Given the description of an element on the screen output the (x, y) to click on. 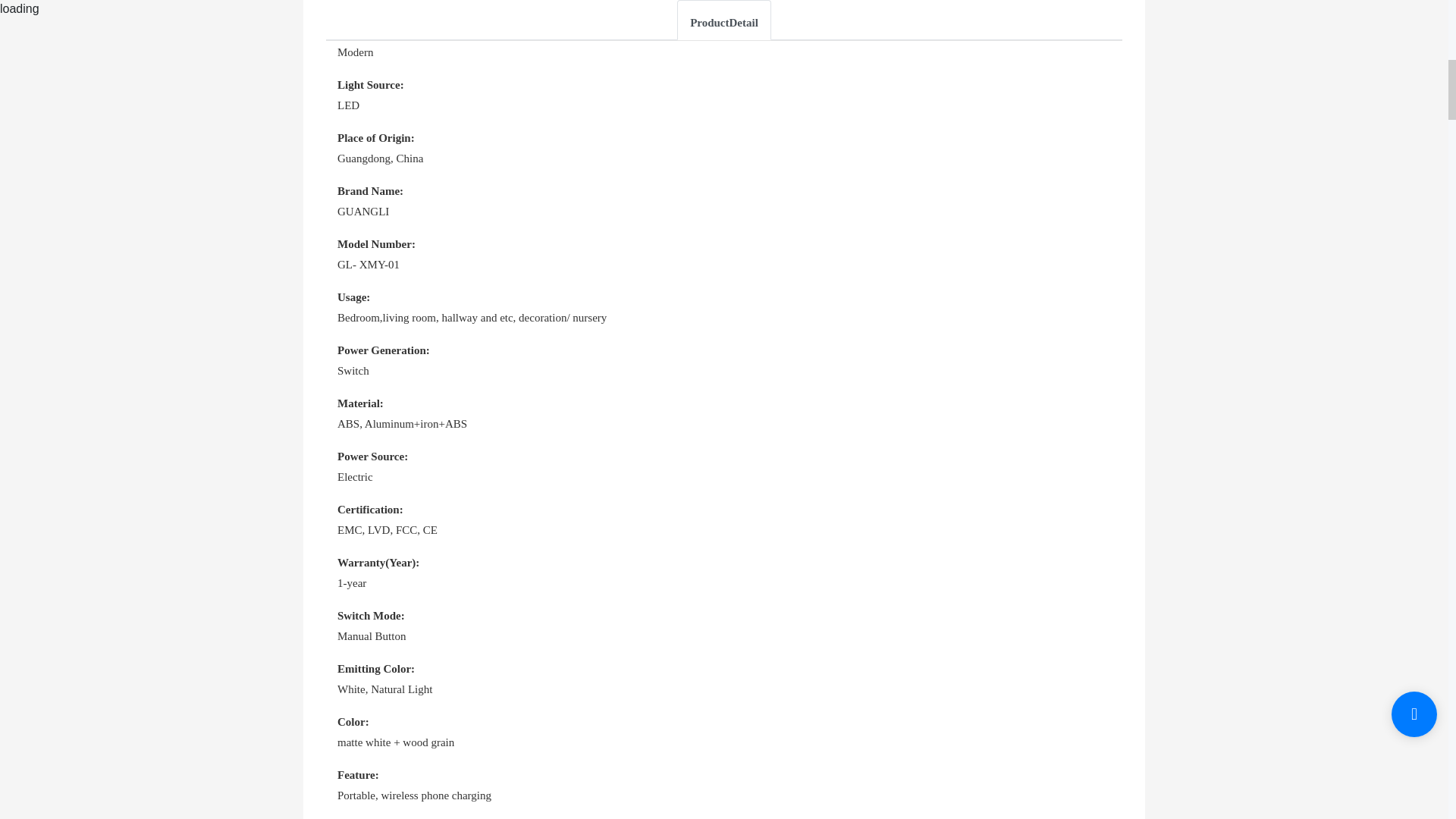
Switch (723, 371)
GUANGLI (723, 211)
Lighting and circuitry design (723, 4)
Model Number (375, 244)
Usage (353, 297)
Place of Origin (375, 137)
Brand Name (370, 191)
GL- XMY-01 (723, 264)
Light Source (370, 84)
Guangdong, China (723, 158)
Modern (723, 52)
Design Style (369, 31)
Material (360, 403)
Power Generation (383, 349)
LED (723, 105)
